Given the description of an element on the screen output the (x, y) to click on. 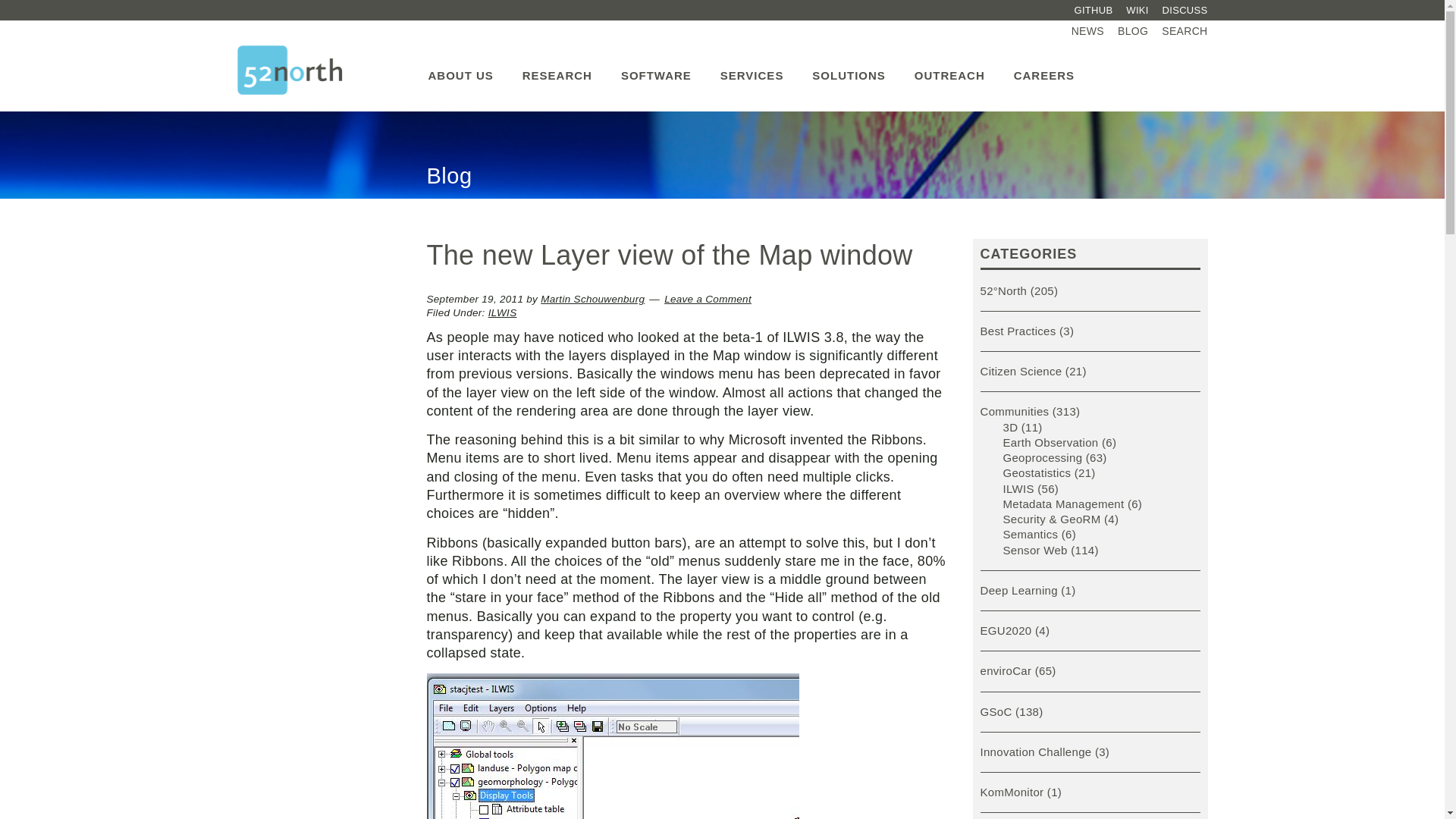
GITHUB (1093, 10)
CAREERS (1043, 66)
ABOUT US (460, 66)
RESEARCH (557, 66)
Citizen Science (1020, 370)
NEWS (1087, 30)
SOLUTIONS (848, 66)
Leave a Comment (707, 298)
Martin Schouwenburg (592, 298)
lv (611, 746)
SERVICES (752, 66)
BLOG (1132, 30)
SOFTWARE (656, 66)
OUTREACH (949, 66)
SEARCH (1181, 30)
